Given the description of an element on the screen output the (x, y) to click on. 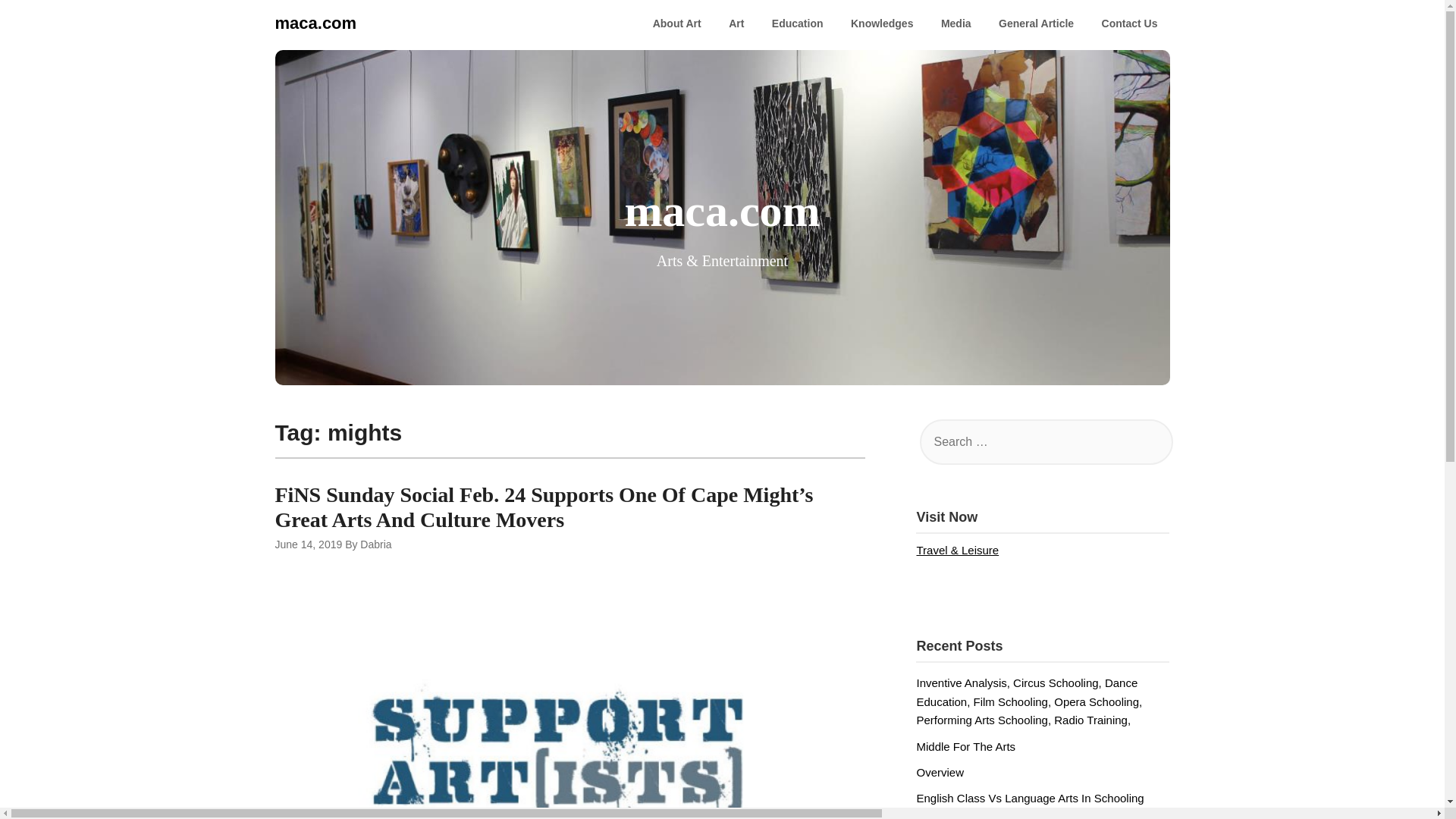
Search (38, 22)
maca.com (315, 22)
Education (797, 24)
June 14, 2019 (308, 544)
Contact Us (1129, 24)
General Article (1036, 24)
Overview (939, 771)
Media (956, 24)
Knowledges (881, 24)
